Given the description of an element on the screen output the (x, y) to click on. 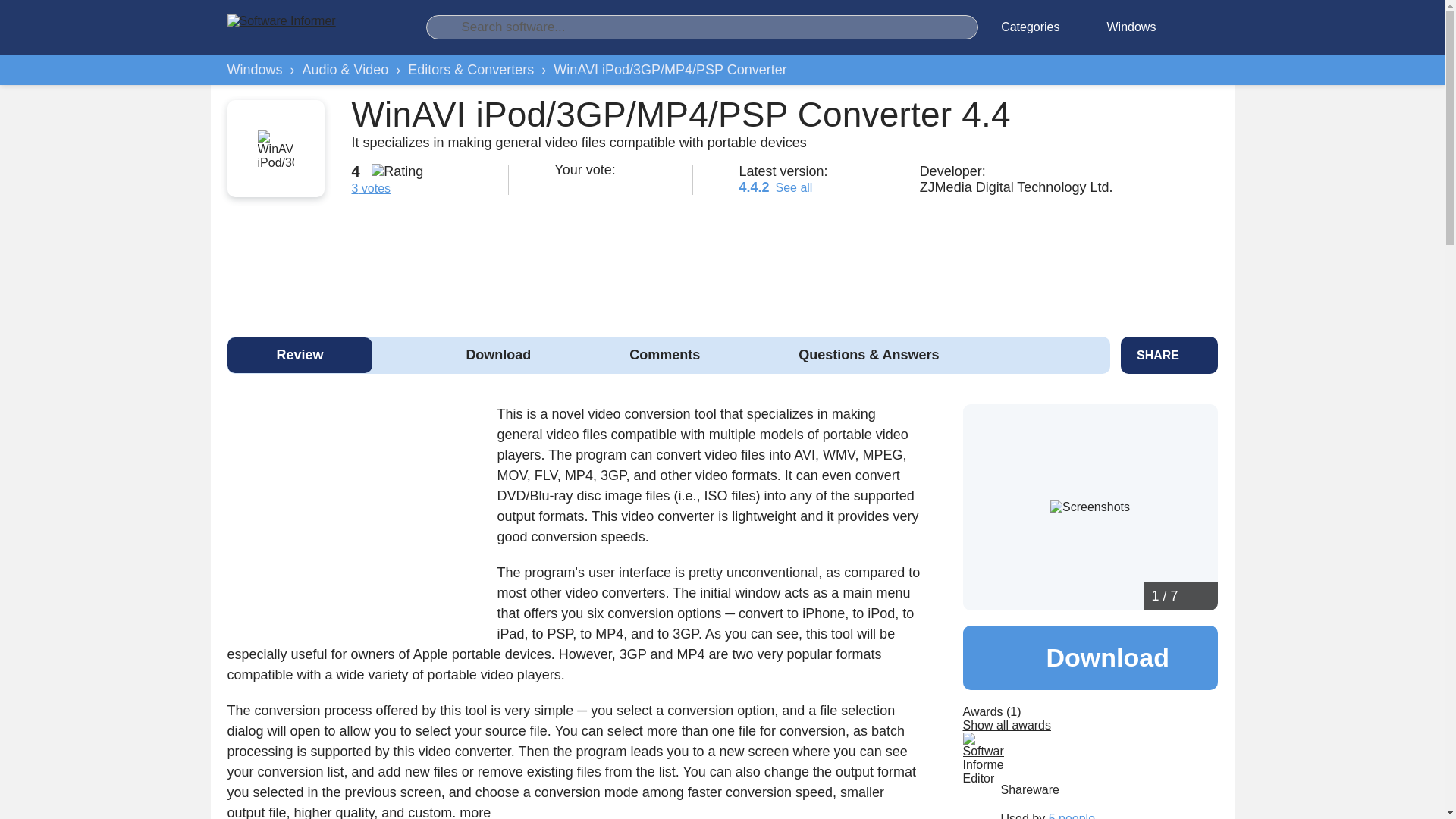
SHARE (1169, 354)
5 people (1071, 815)
3 (598, 184)
3 votes (371, 187)
Search software... (702, 27)
Show all awards (1006, 725)
Download (1089, 657)
1 (560, 184)
4.4.2.4702 (753, 186)
